Given the description of an element on the screen output the (x, y) to click on. 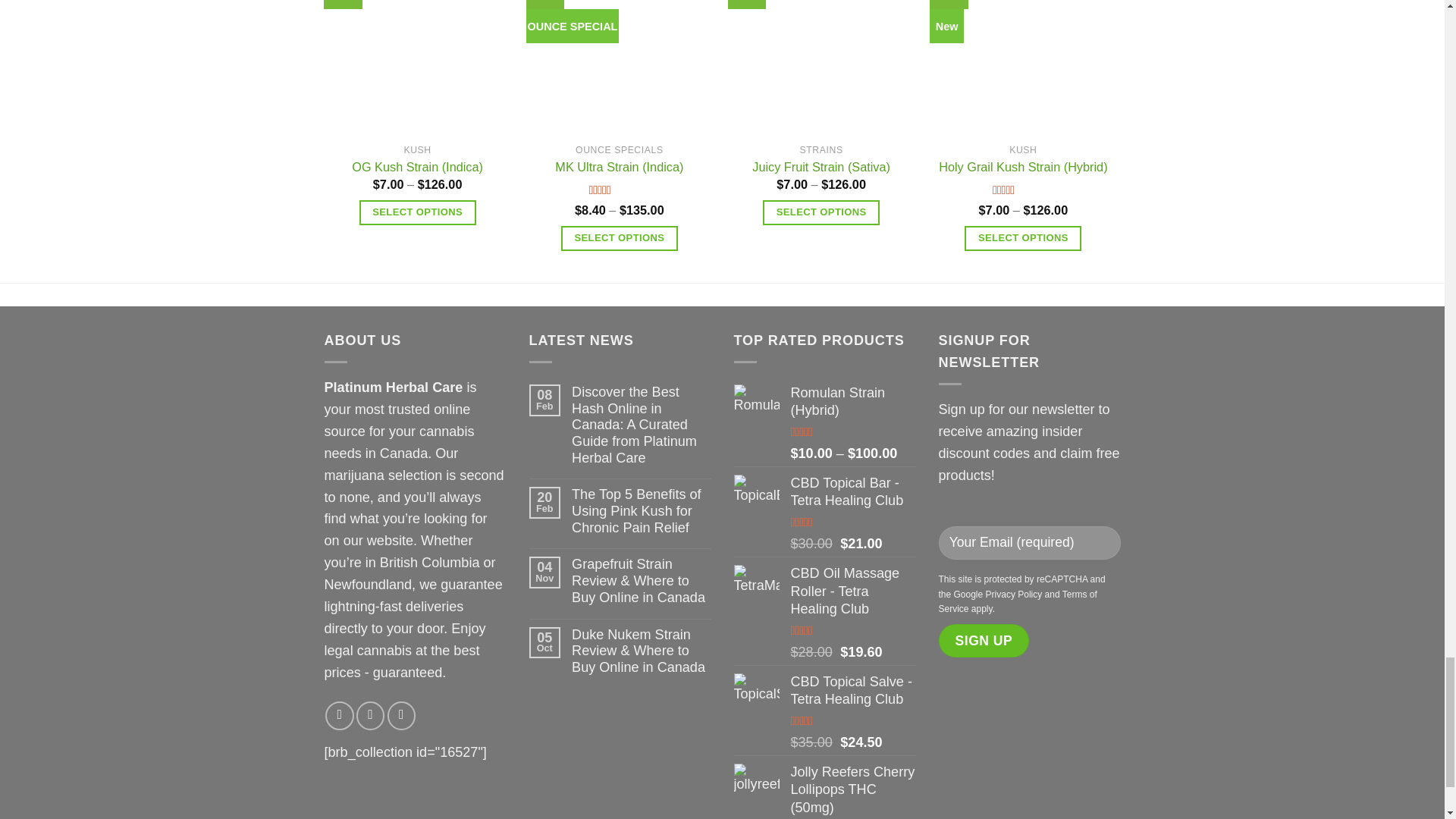
Follow on Facebook (338, 715)
Send us an email (400, 715)
Sign Up (984, 640)
Follow on Instagram (370, 715)
